Given the description of an element on the screen output the (x, y) to click on. 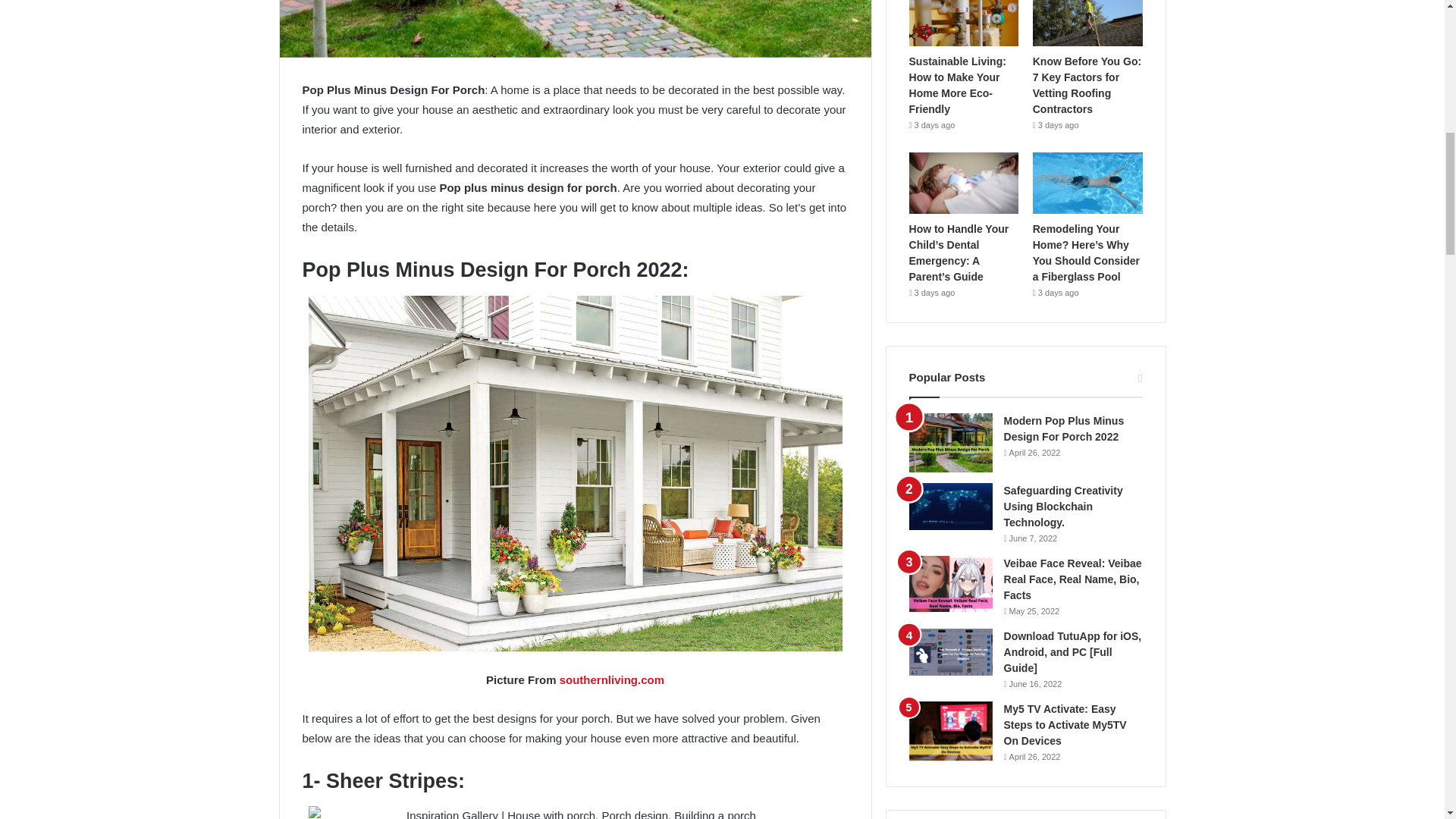
southernliving.com (611, 679)
